Given the description of an element on the screen output the (x, y) to click on. 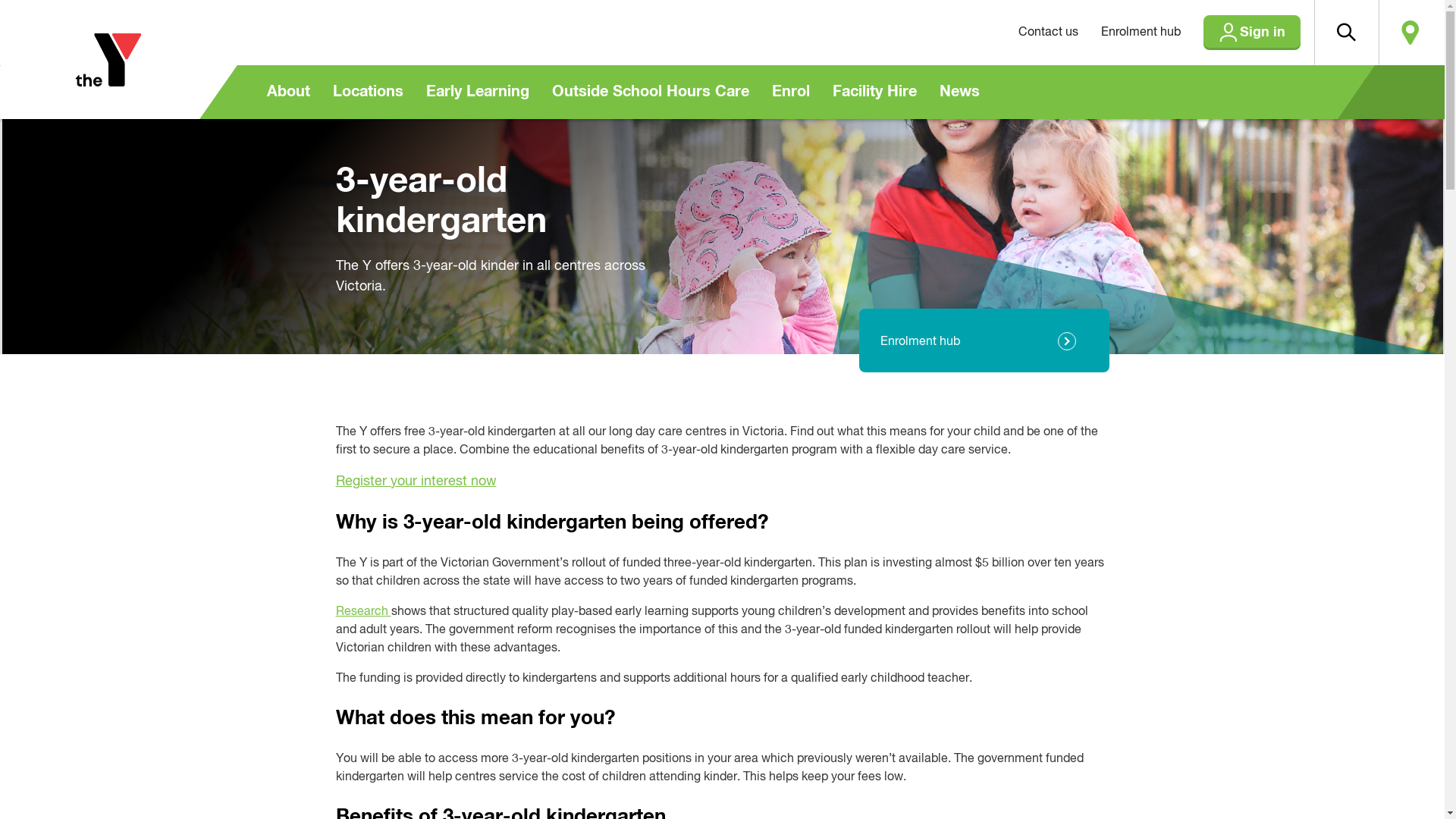
Enrolment hub Element type: text (1139, 32)
Sign in Element type: text (1250, 32)
Locations Element type: text (367, 92)
Outside School Hours Care Element type: text (649, 92)
Research Element type: text (362, 611)
Enrol Element type: text (789, 92)
Register your interest now Element type: text (415, 482)
Locate Element type: text (1410, 32)
About Element type: text (287, 92)
Contact us Element type: text (1048, 32)
Early Learning Element type: text (476, 92)
Enrolment hub Element type: text (983, 341)
News Element type: text (959, 92)
Facility Hire Element type: text (873, 92)
